Given the description of an element on the screen output the (x, y) to click on. 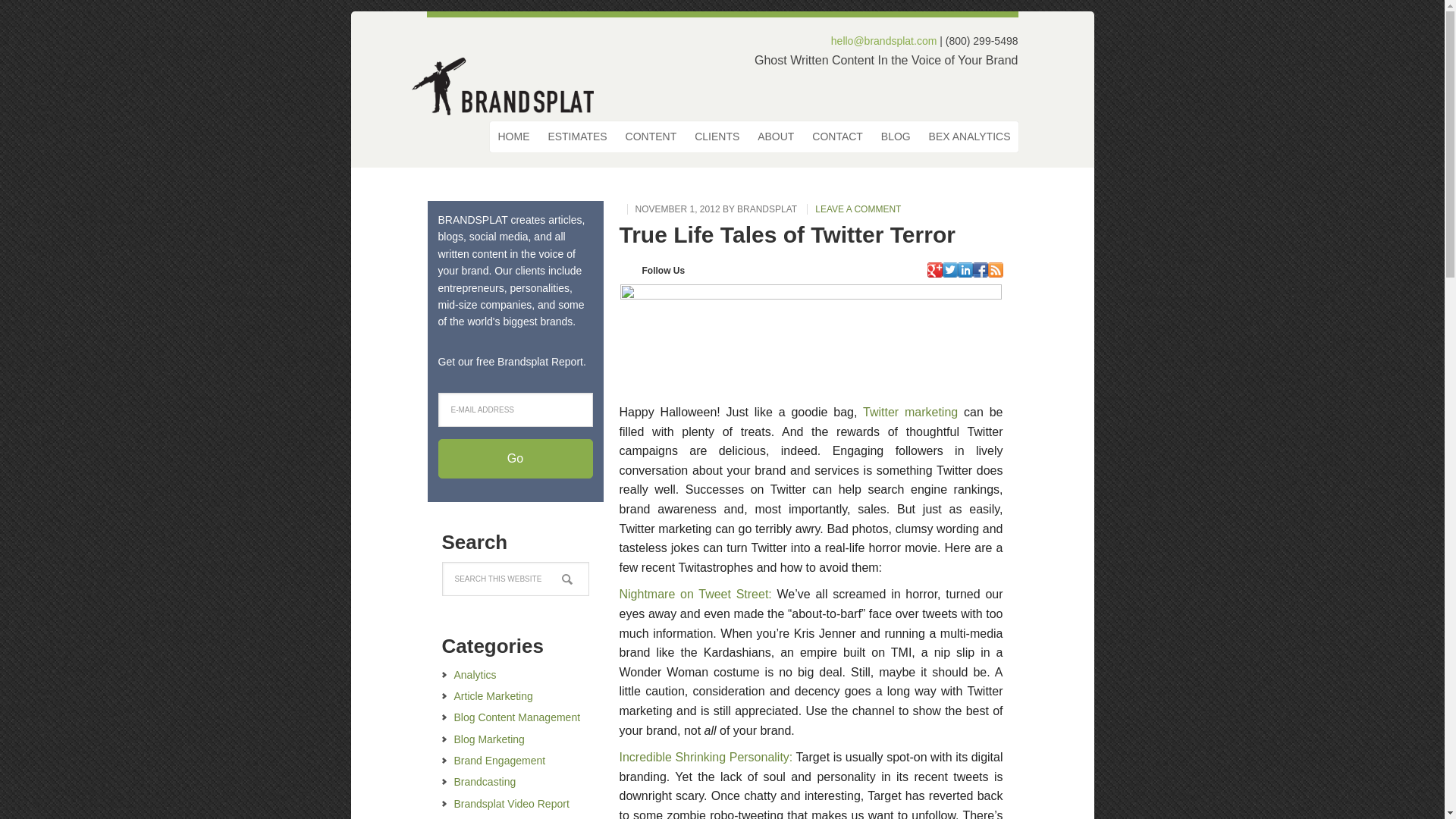
BLOG (895, 136)
BRANDSPLAT (766, 208)
Go (515, 458)
Brand Engagement (498, 760)
Article Marketing (492, 695)
Blog Marketing (488, 739)
HOME (513, 136)
Incredible Shrinking Personality: (705, 757)
CONTACT (837, 136)
BEX ANALYTICS (969, 136)
